Given the description of an element on the screen output the (x, y) to click on. 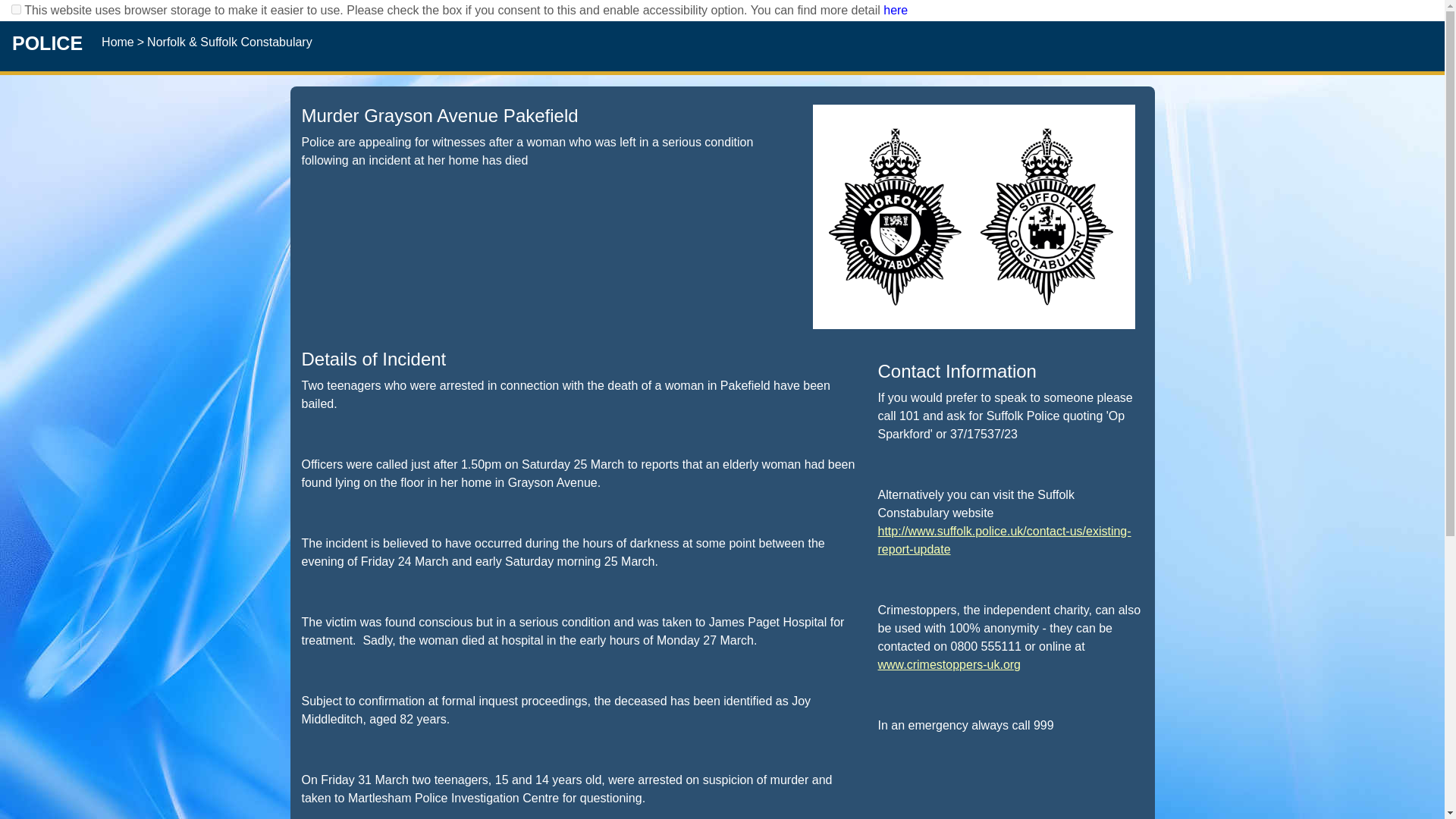
www.crimestoppers-uk.org (949, 664)
Home (118, 42)
here (895, 10)
